Given the description of an element on the screen output the (x, y) to click on. 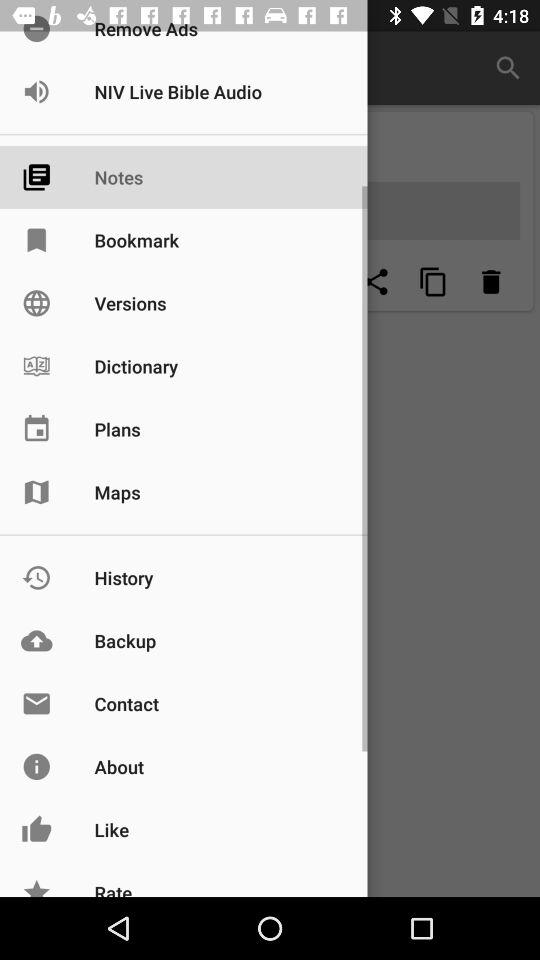
new tape (317, 281)
